Given the description of an element on the screen output the (x, y) to click on. 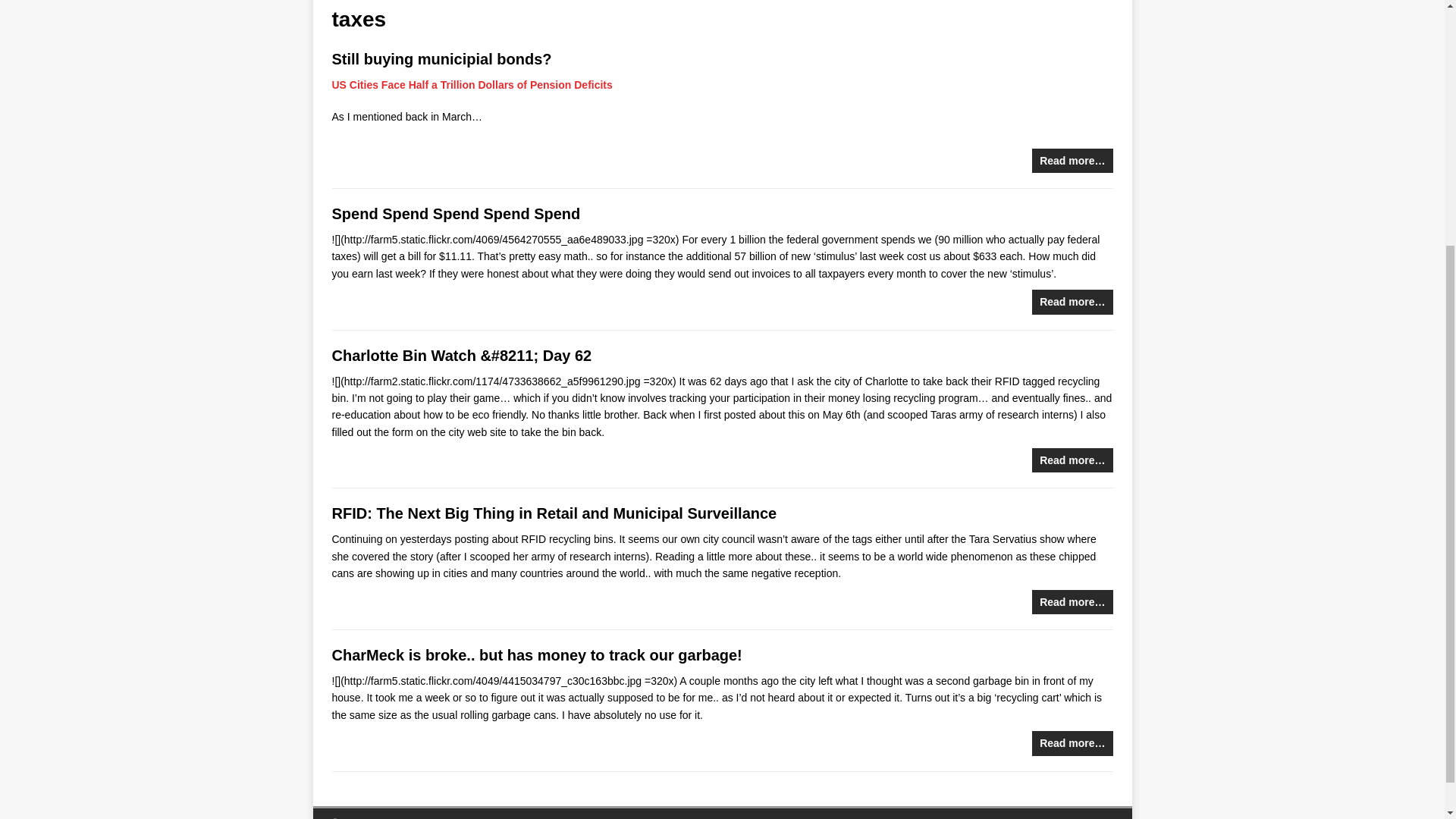
Still buying municipial bonds? (441, 58)
Spend Spend Spend Spend Spend (455, 213)
US Cities Face Half a Trillion Dollars of Pension (453, 84)
Deficits (592, 84)
CharMeck is broke.. but has money to track our garbage! (536, 655)
